Given the description of an element on the screen output the (x, y) to click on. 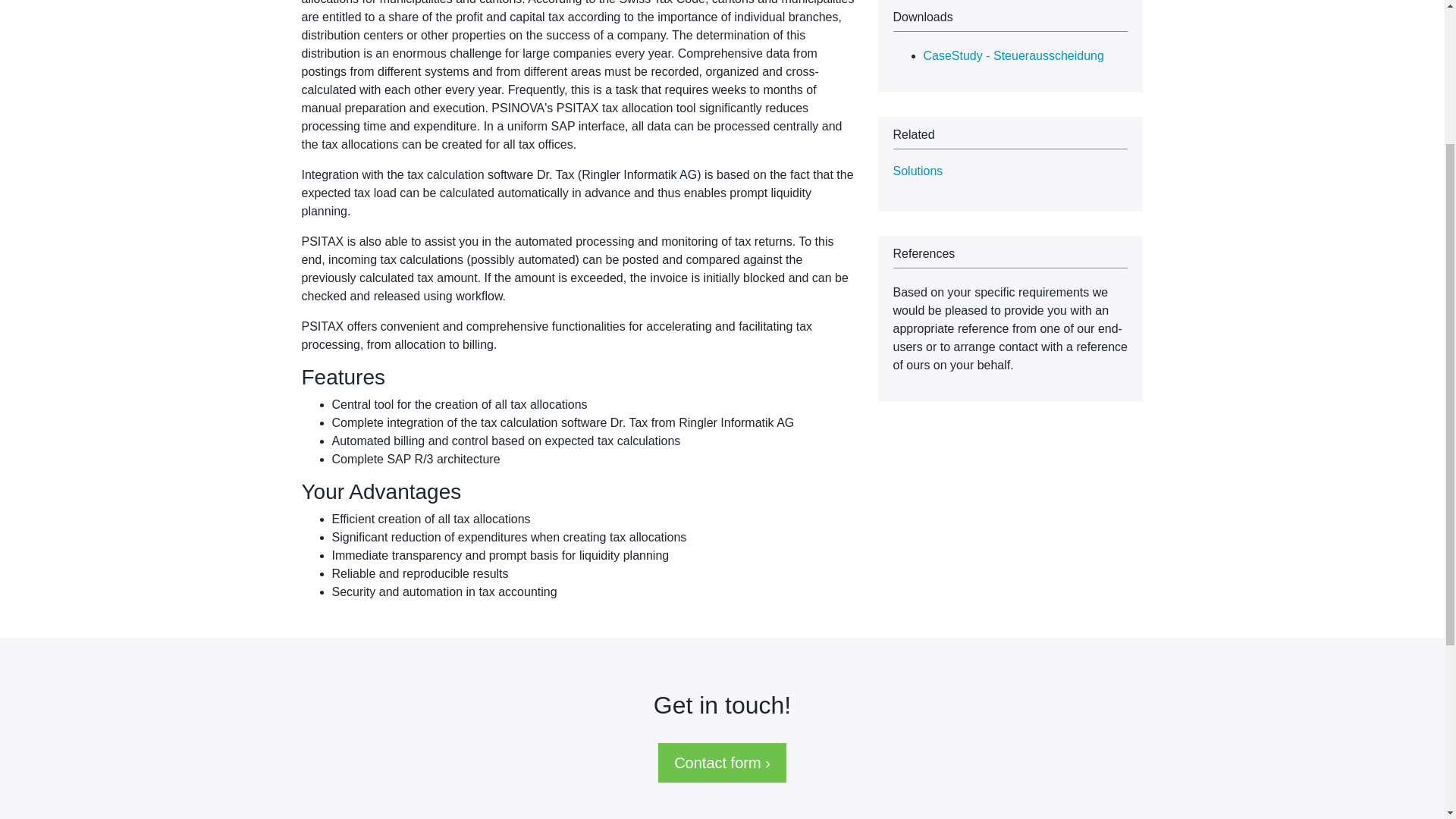
CaseStudy - Steuerausscheidung (1013, 55)
Solutions (918, 170)
